Given the description of an element on the screen output the (x, y) to click on. 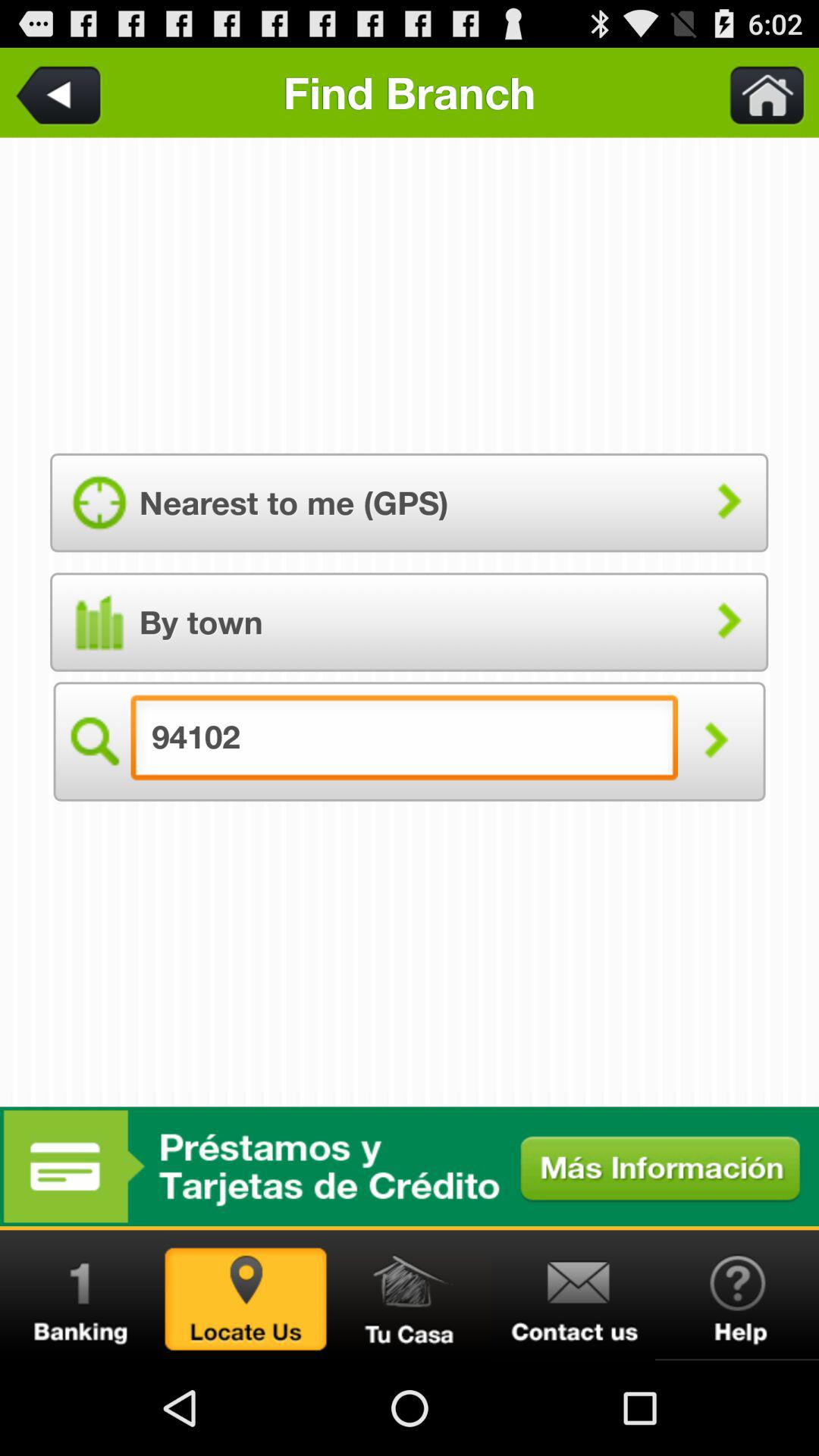
go to help (737, 1295)
